Given the description of an element on the screen output the (x, y) to click on. 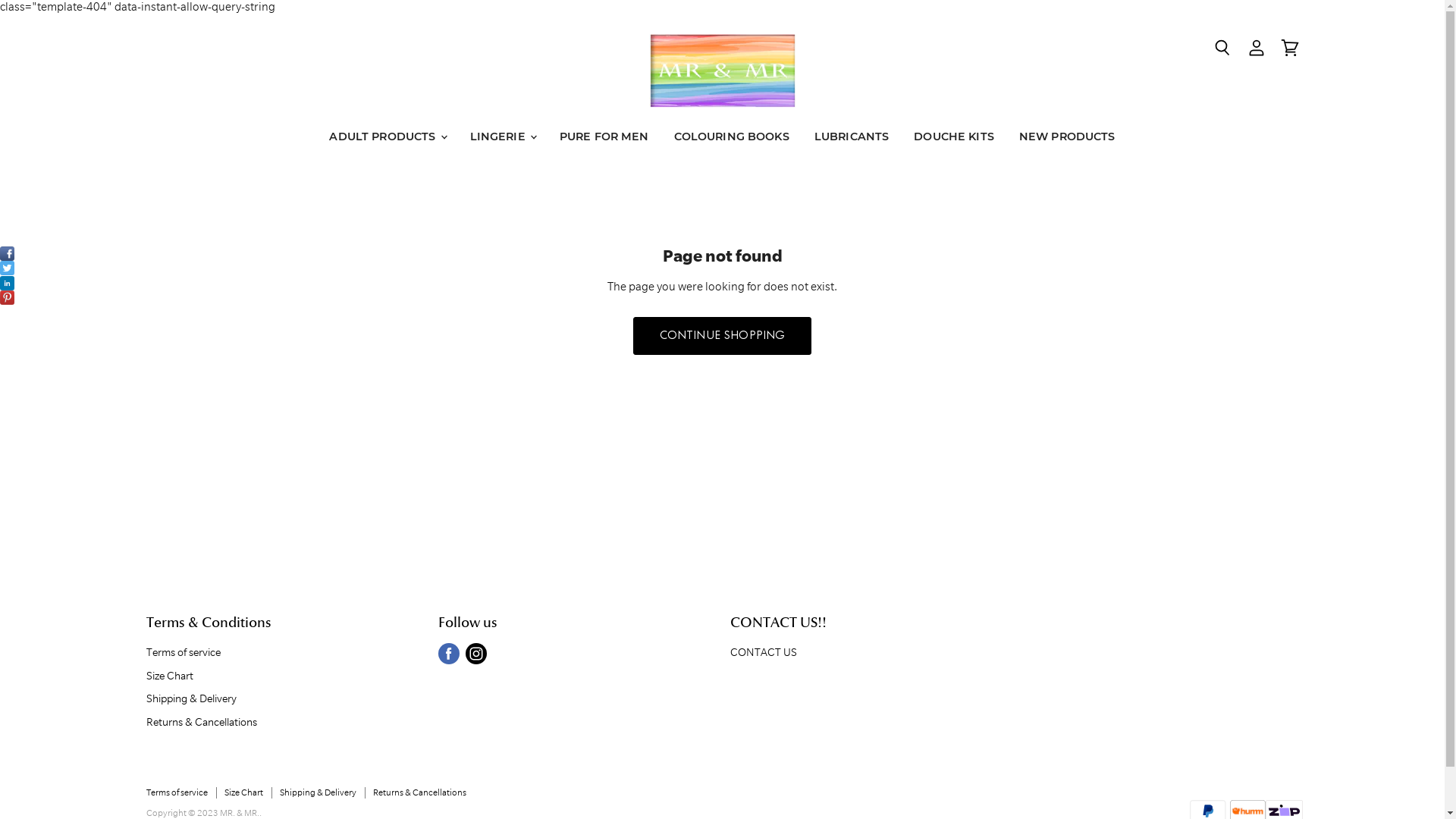
DOUCHE KITS Element type: text (953, 136)
ADULT PRODUCTS Element type: text (386, 136)
Size Chart Element type: text (168, 675)
CONTINUE SHOPPING Element type: text (722, 335)
Find us on Instagram Element type: text (475, 653)
Shipping & Delivery Element type: text (190, 698)
Shipping & Delivery Element type: text (317, 792)
LINGERIE Element type: text (502, 136)
View cart Element type: text (1289, 48)
LUBRICANTS Element type: text (851, 136)
COLOURING BOOKS Element type: text (731, 136)
NEW PRODUCTS Element type: text (1066, 136)
Returns & Cancellations Element type: text (200, 721)
View account Element type: text (1256, 48)
Terms of service Element type: text (182, 652)
PURE FOR MEN Element type: text (604, 136)
Find us on Facebook Element type: text (448, 653)
Returns & Cancellations Element type: text (419, 792)
Terms of service Element type: text (176, 792)
CONTACT US Element type: text (763, 652)
Search Element type: text (1221, 48)
Size Chart Element type: text (243, 792)
